Given the description of an element on the screen output the (x, y) to click on. 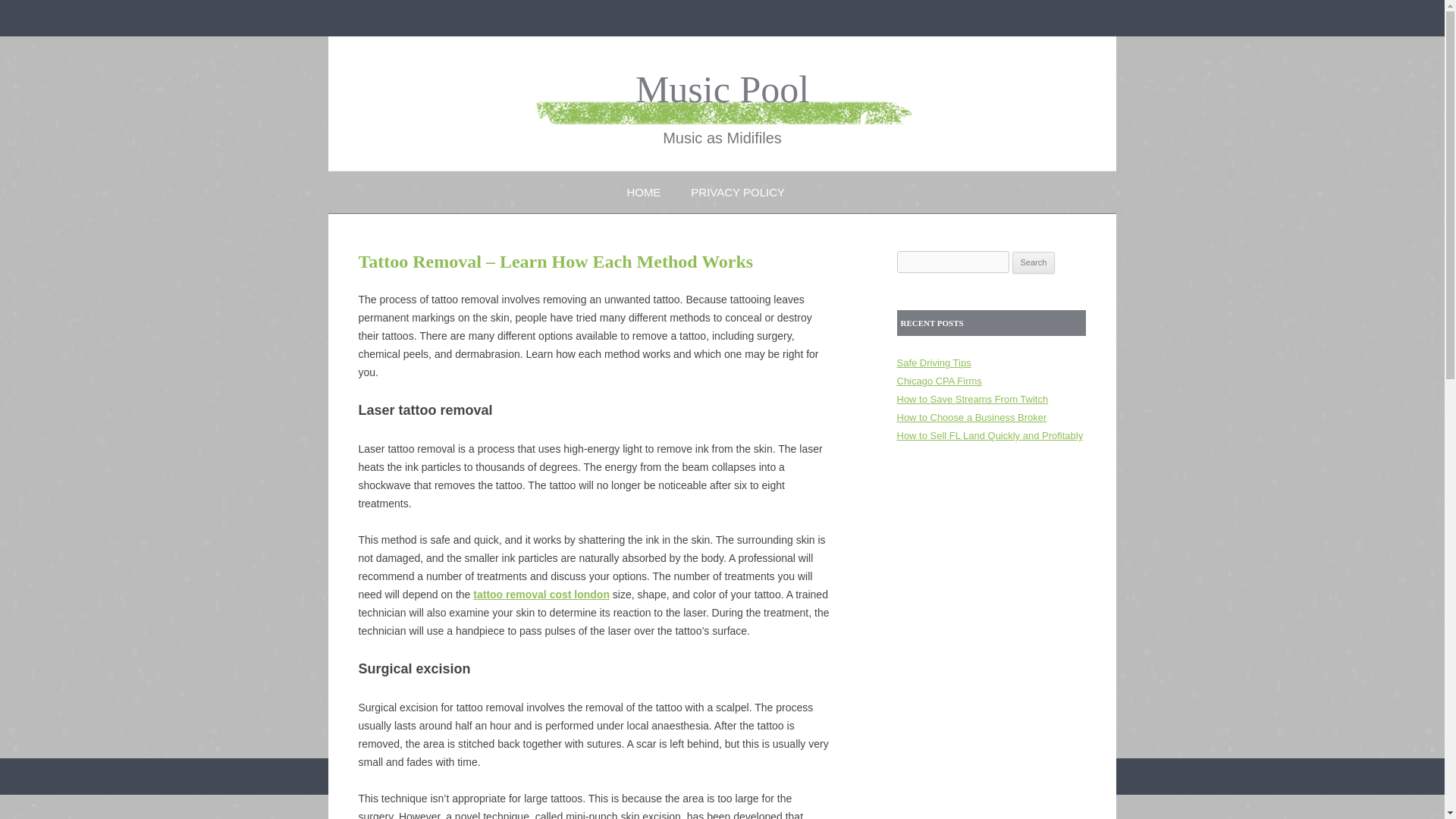
tattoo removal cost london (541, 594)
How to Sell FL Land Quickly and Profitably (989, 435)
How to Choose a Business Broker (971, 417)
Chicago CPA Firms (938, 380)
Music Pool (721, 89)
How to Save Streams From Twitch (972, 398)
PRIVACY POLICY (737, 191)
Safe Driving Tips (933, 362)
Search (1033, 262)
Search (1033, 262)
Music Pool (721, 89)
